Given the description of an element on the screen output the (x, y) to click on. 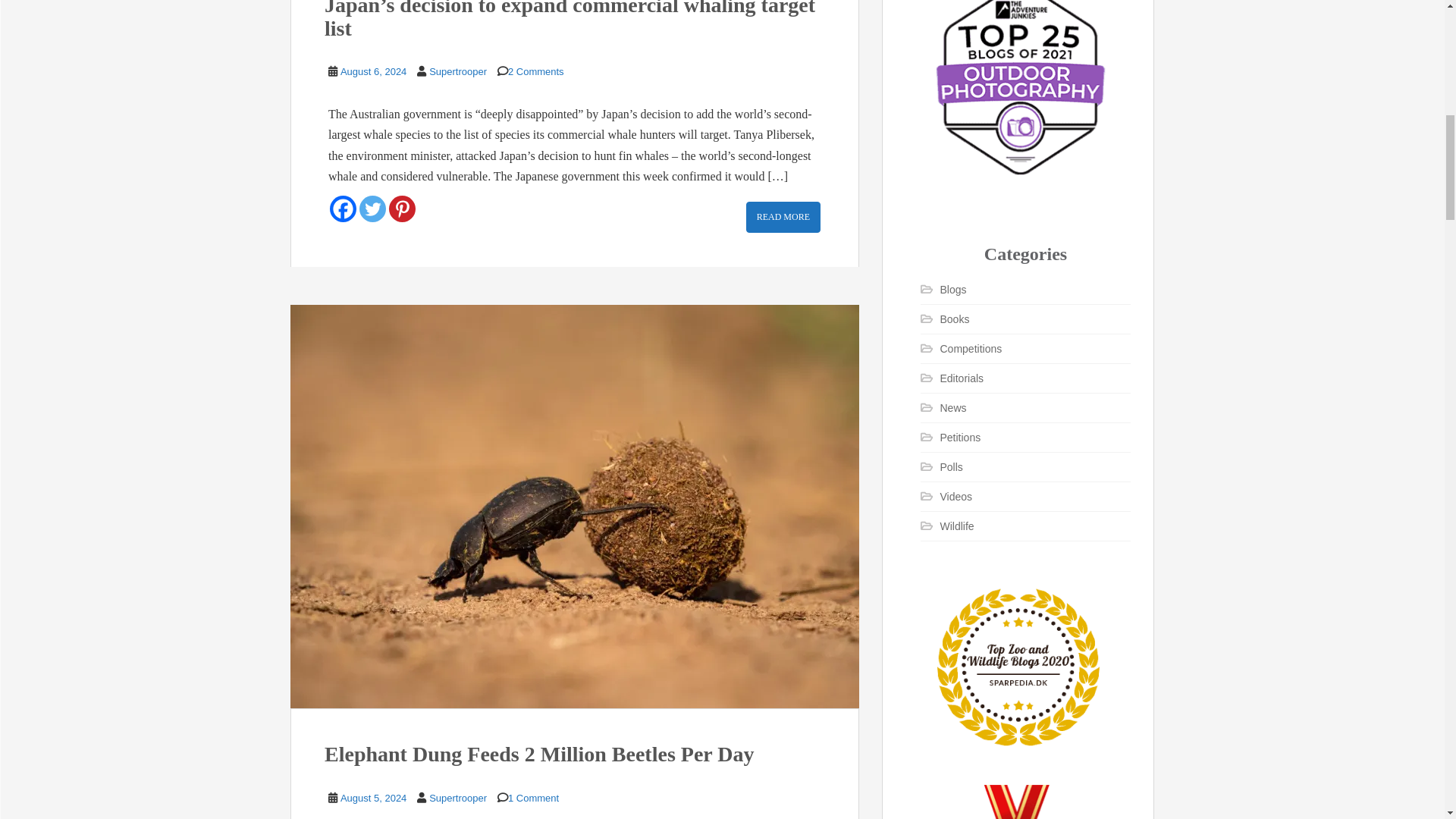
Supertrooper (457, 797)
August 5, 2024 (373, 797)
2 Comments (536, 71)
Pinterest (401, 208)
Facebook (343, 208)
1 Comment (533, 797)
READ MORE (783, 216)
August 6, 2024 (373, 71)
Supertrooper (457, 71)
Elephant Dung Feeds 2 Million Beetles Per Day (539, 753)
Twitter (372, 208)
